Given the description of an element on the screen output the (x, y) to click on. 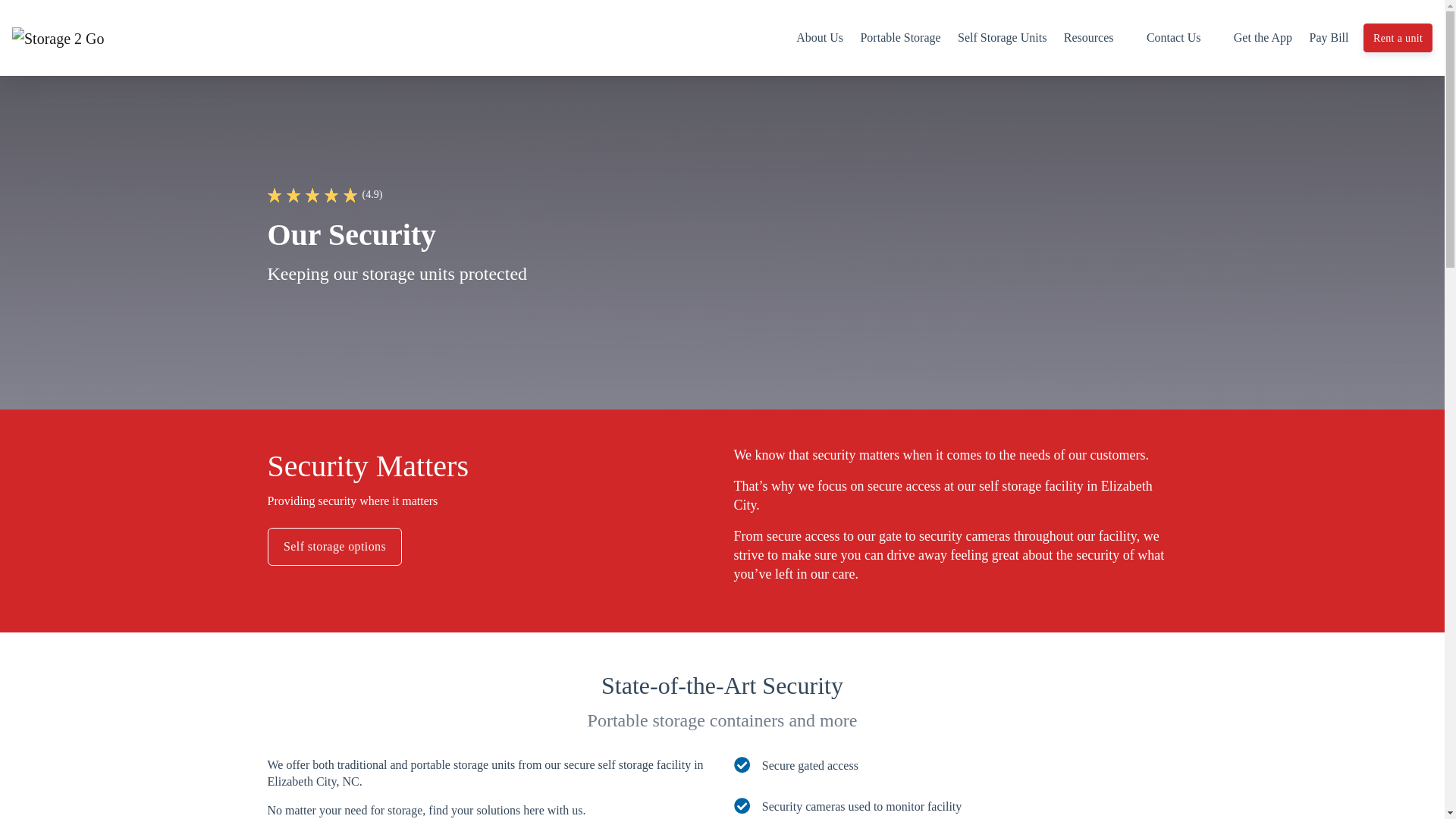
Pay Bill (1328, 37)
Rent a unit (1397, 37)
Contact Us (1181, 37)
Self storage options (333, 546)
Storage 2 Go (57, 36)
Get the App (1263, 37)
Self Storage Units (1002, 37)
Resources (1096, 37)
Portable Storage (900, 37)
About Us (819, 37)
